Given the description of an element on the screen output the (x, y) to click on. 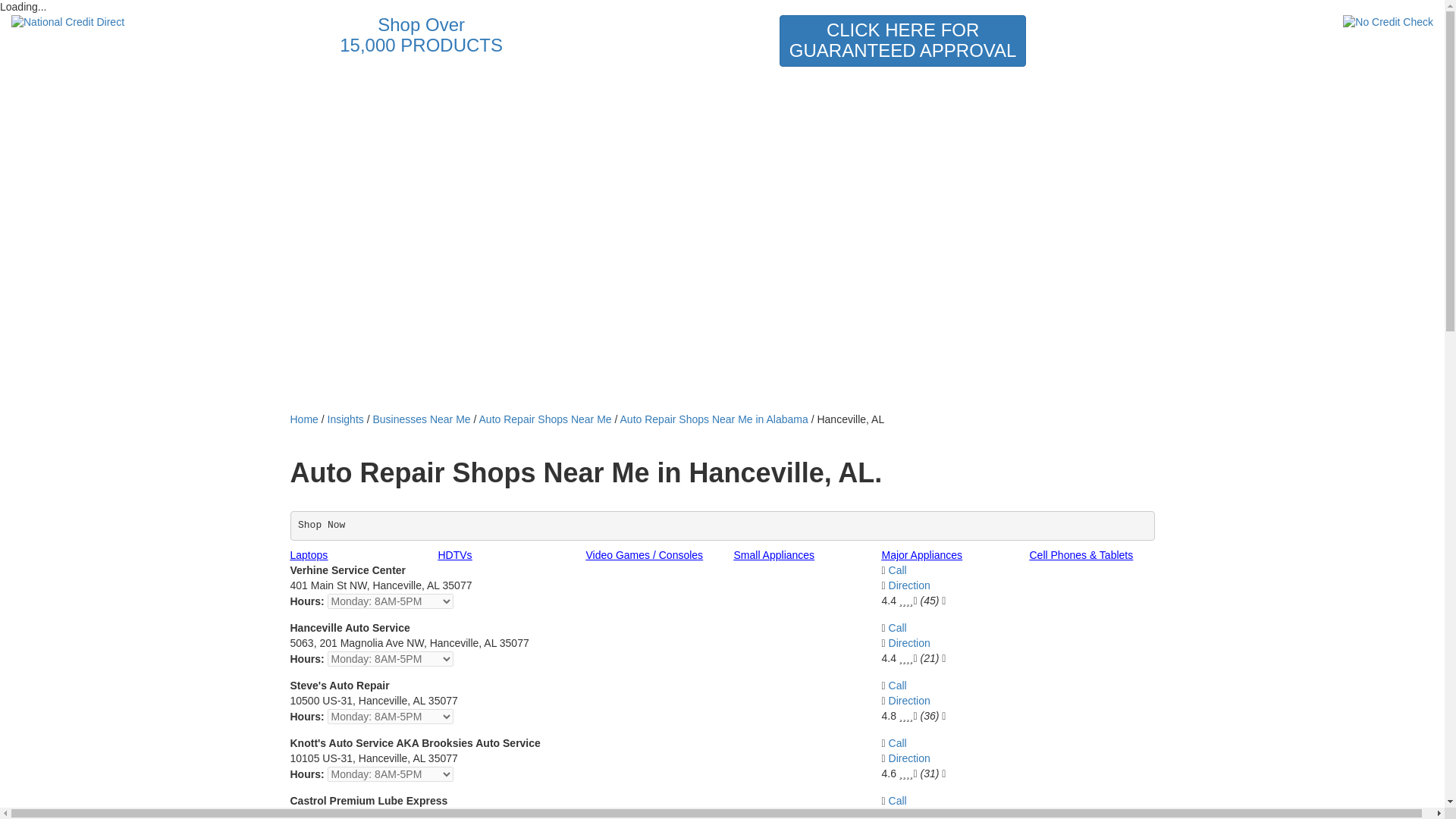
CLICK HERE FOR GUARANTEED APPROVAL (902, 40)
Direction (909, 814)
Auto Repair Shops Near Me (545, 419)
Call (897, 743)
Major Appliances (921, 554)
National Credit Direct (120, 22)
Direction (909, 585)
Shop Now - Small Appliances (774, 554)
Laptops (308, 554)
Shop Over 15,000 PRODUCTS (420, 37)
Direction (909, 700)
Call (897, 685)
Insights (345, 419)
